Given the description of an element on the screen output the (x, y) to click on. 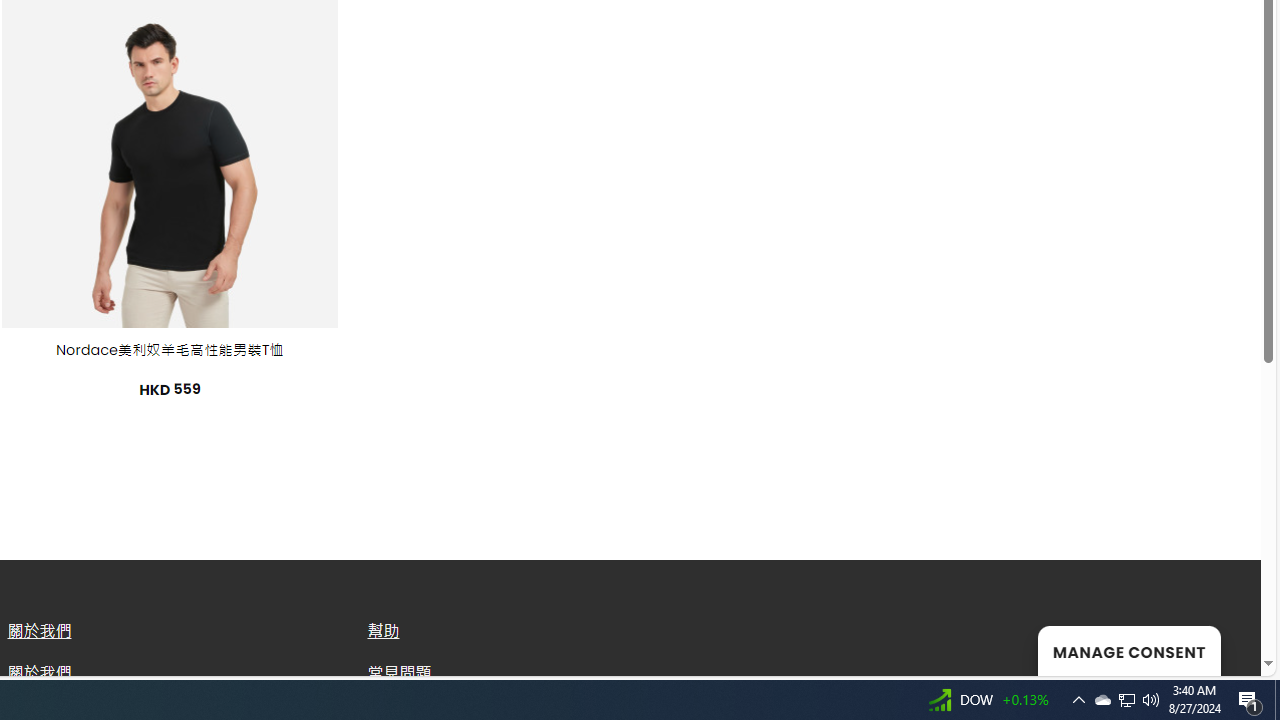
Go to top (1220, 647)
MANAGE CONSENT (1128, 650)
